Given the description of an element on the screen output the (x, y) to click on. 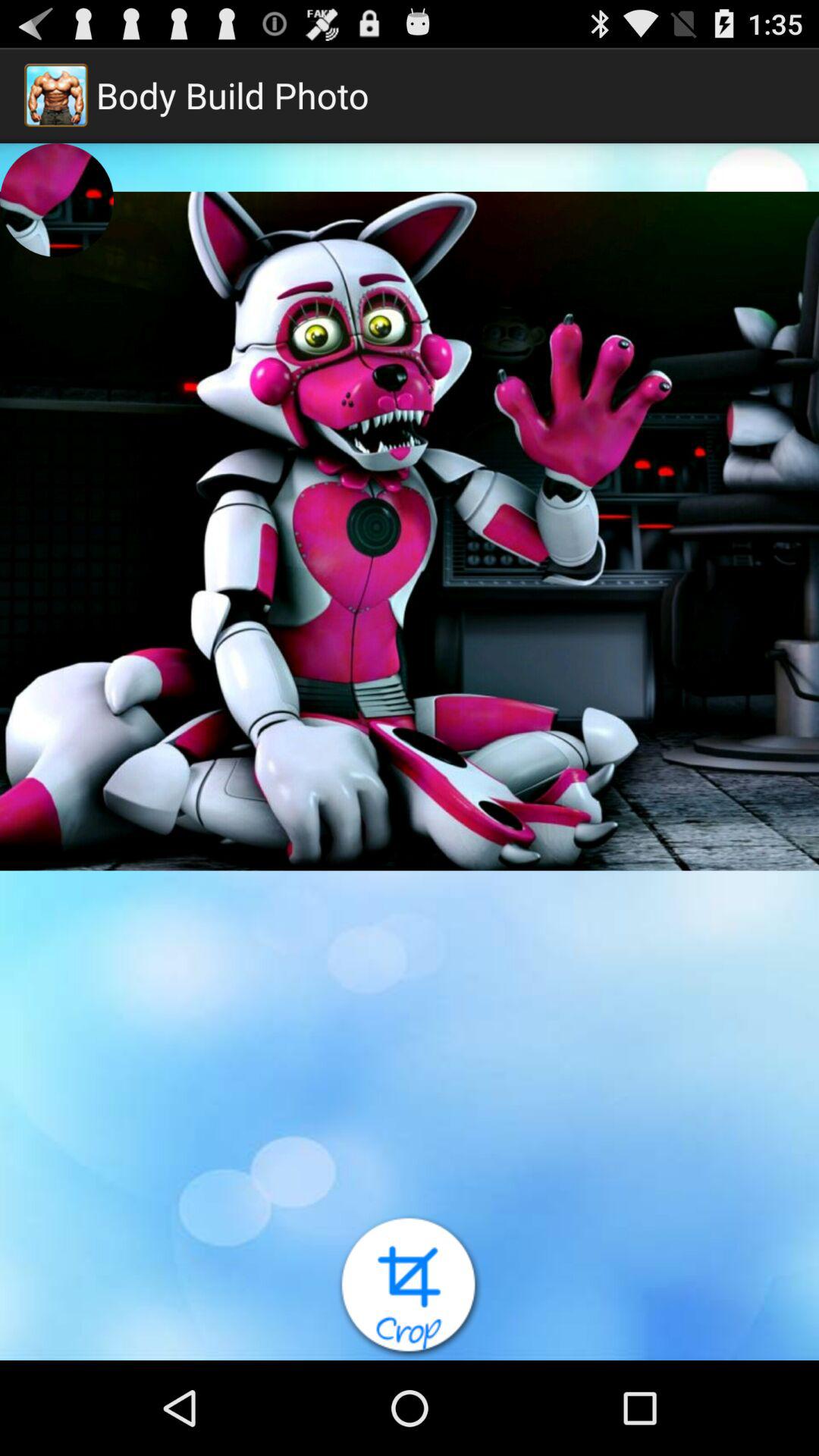
click the icon at the bottom (409, 1287)
